Given the description of an element on the screen output the (x, y) to click on. 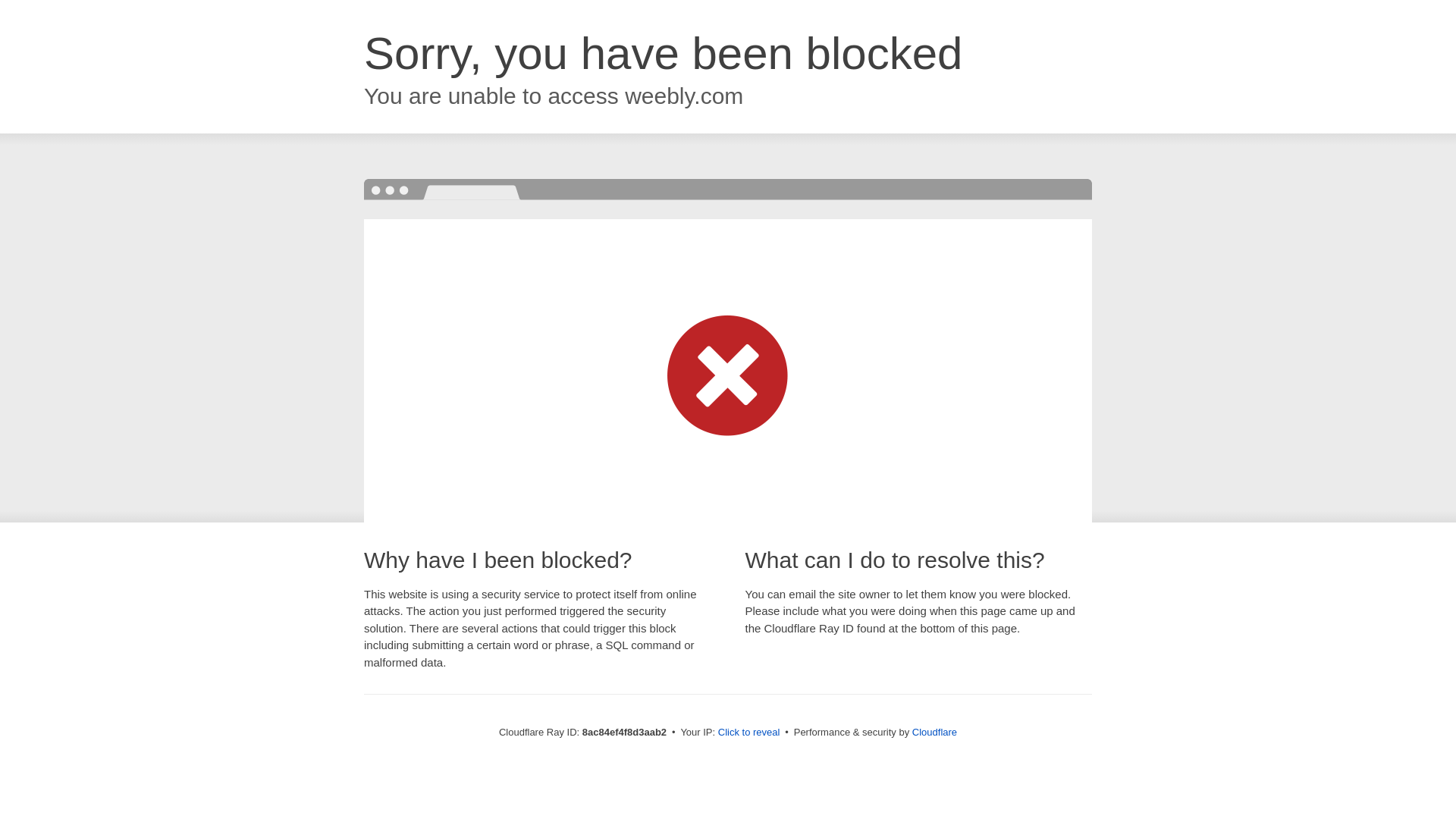
Click to reveal (748, 732)
Cloudflare (934, 731)
